Given the description of an element on the screen output the (x, y) to click on. 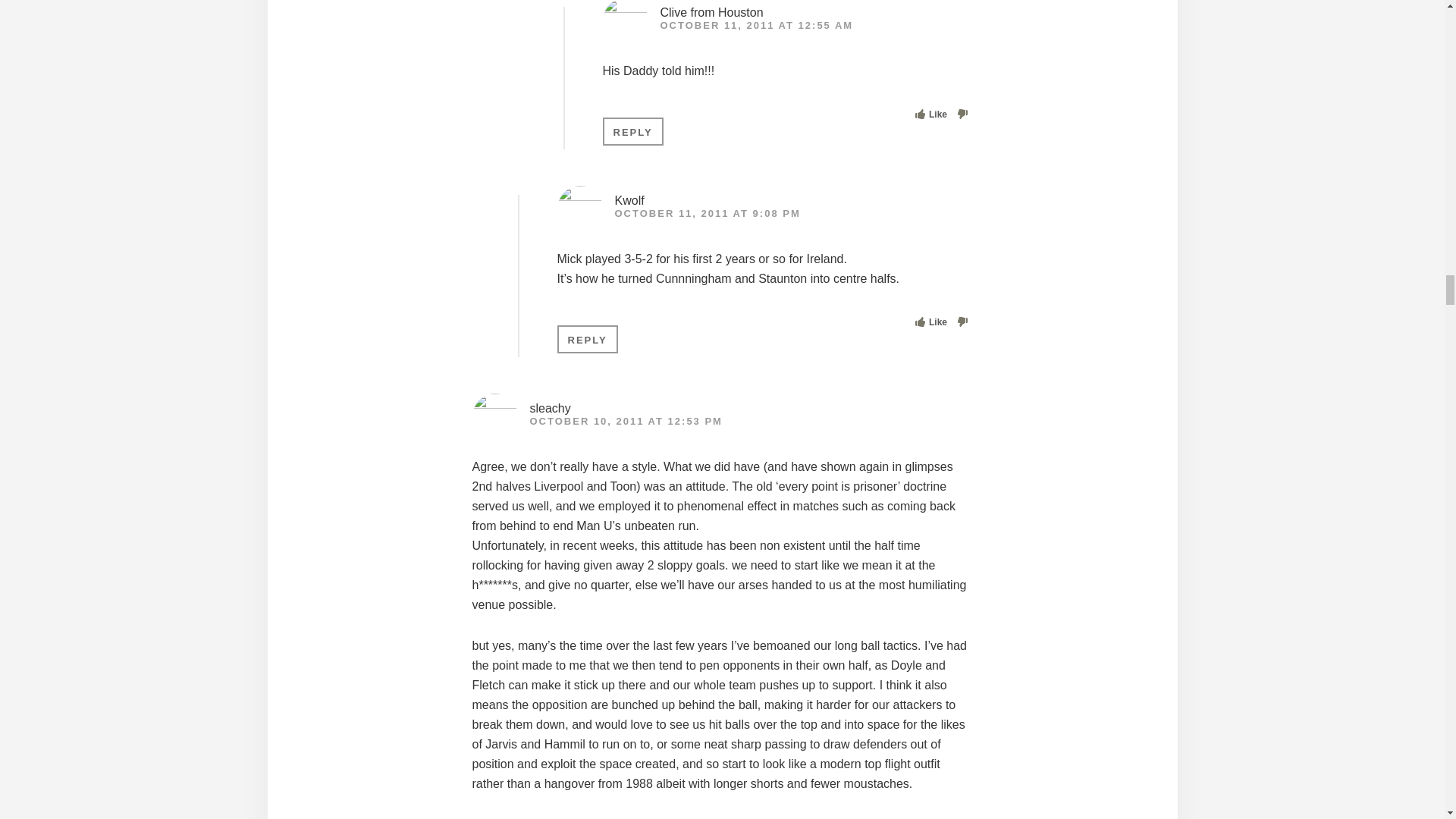
OCTOBER 11, 2011 AT 12:55 AM (756, 25)
REPLY (632, 131)
